Given the description of an element on the screen output the (x, y) to click on. 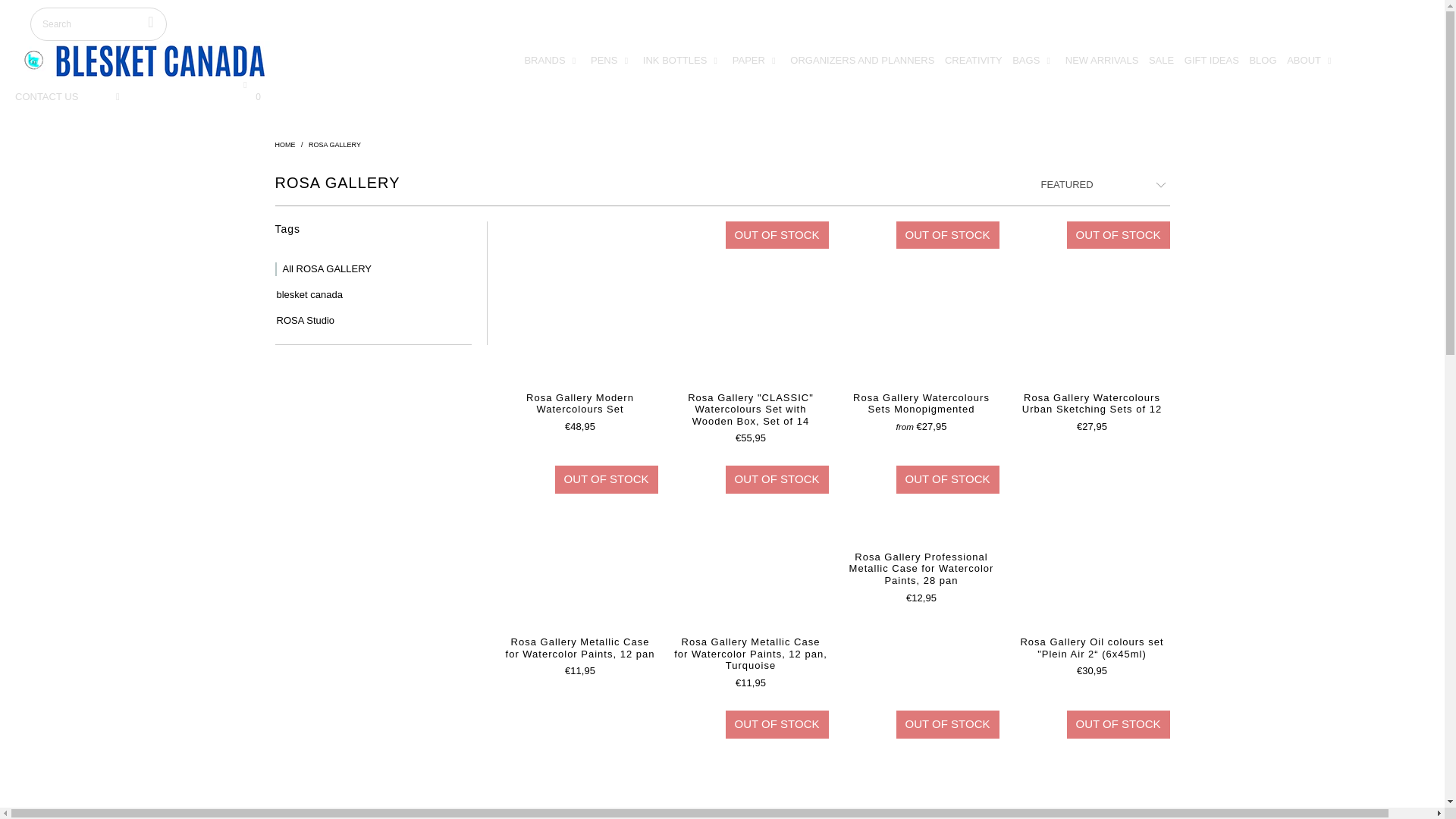
ROSA GALLERY (334, 144)
Blesket Canada (146, 60)
Blesket Canada (285, 144)
